Given the description of an element on the screen output the (x, y) to click on. 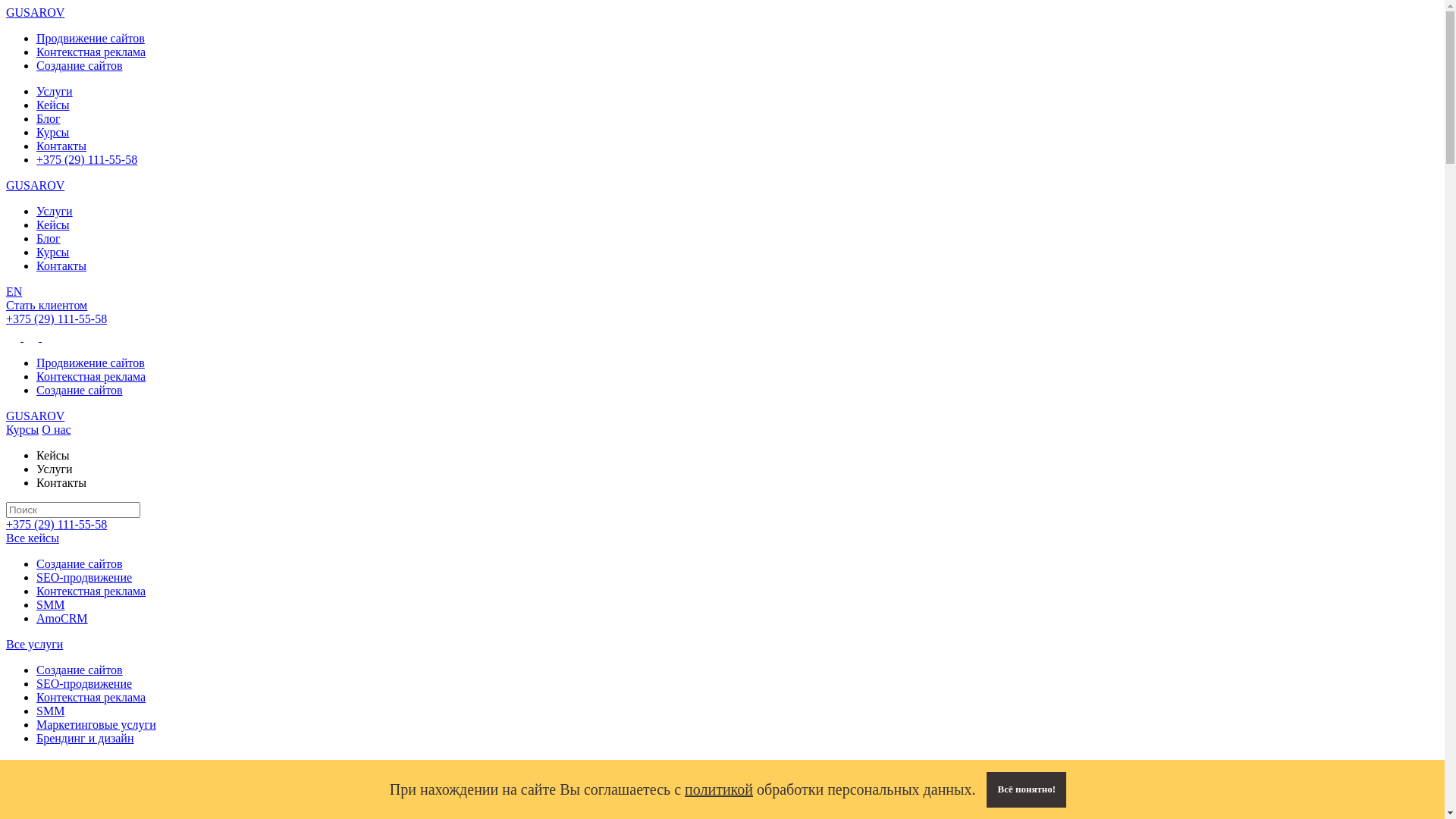
GUSAROV Element type: text (35, 12)
+375 (29) 111-55-58 Element type: text (56, 318)
GUSAROV Element type: text (35, 415)
AmoCRM Element type: text (61, 617)
SMM Element type: text (50, 604)
EN Element type: text (13, 291)
+375 (29) 111-55-58 Element type: text (56, 523)
SMM Element type: text (50, 710)
+375 (29) 111-55-58 Element type: text (86, 159)
GUSAROV Element type: text (35, 184)
